Given the description of an element on the screen output the (x, y) to click on. 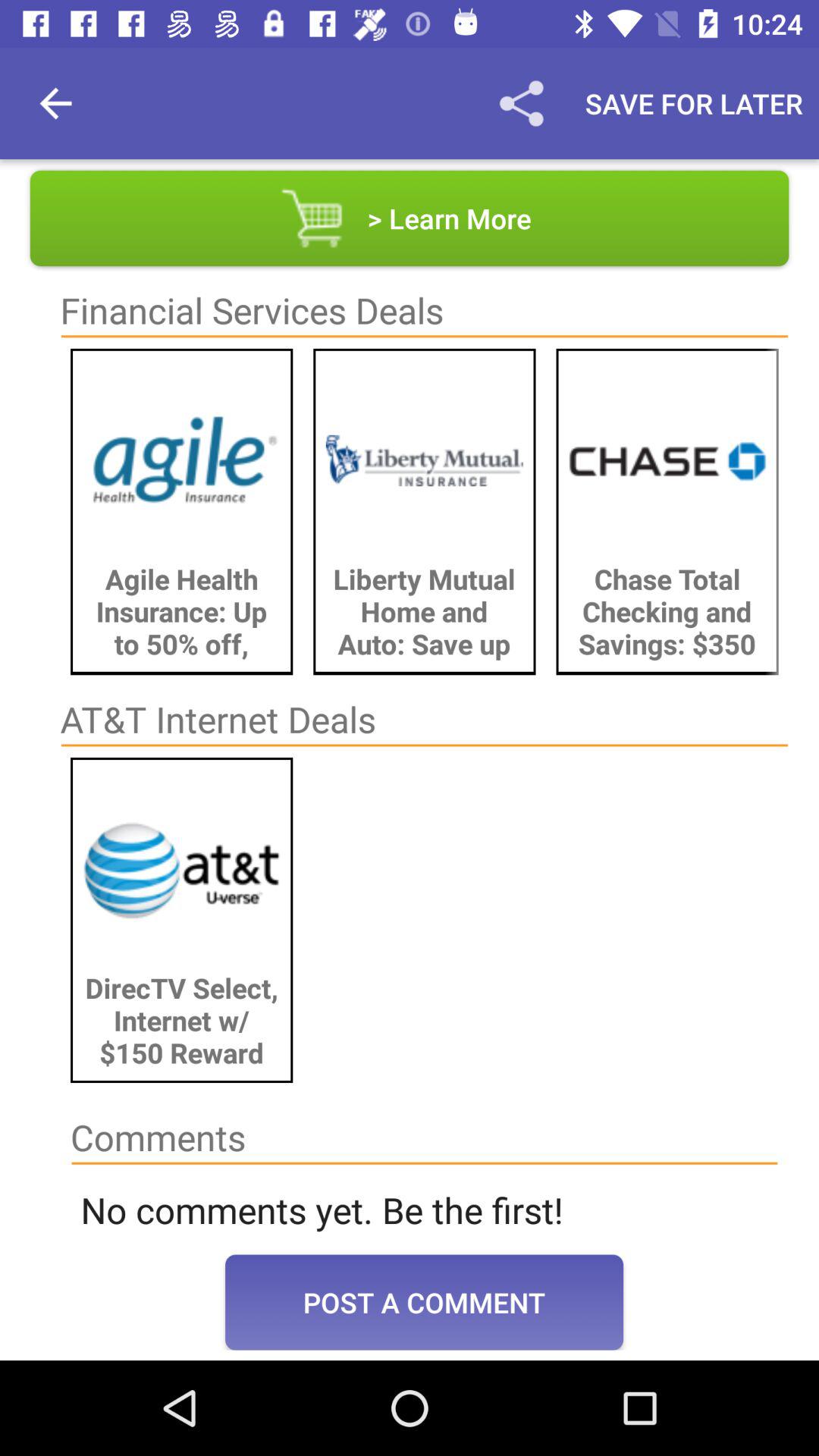
swipe until the post a comment (424, 1302)
